Given the description of an element on the screen output the (x, y) to click on. 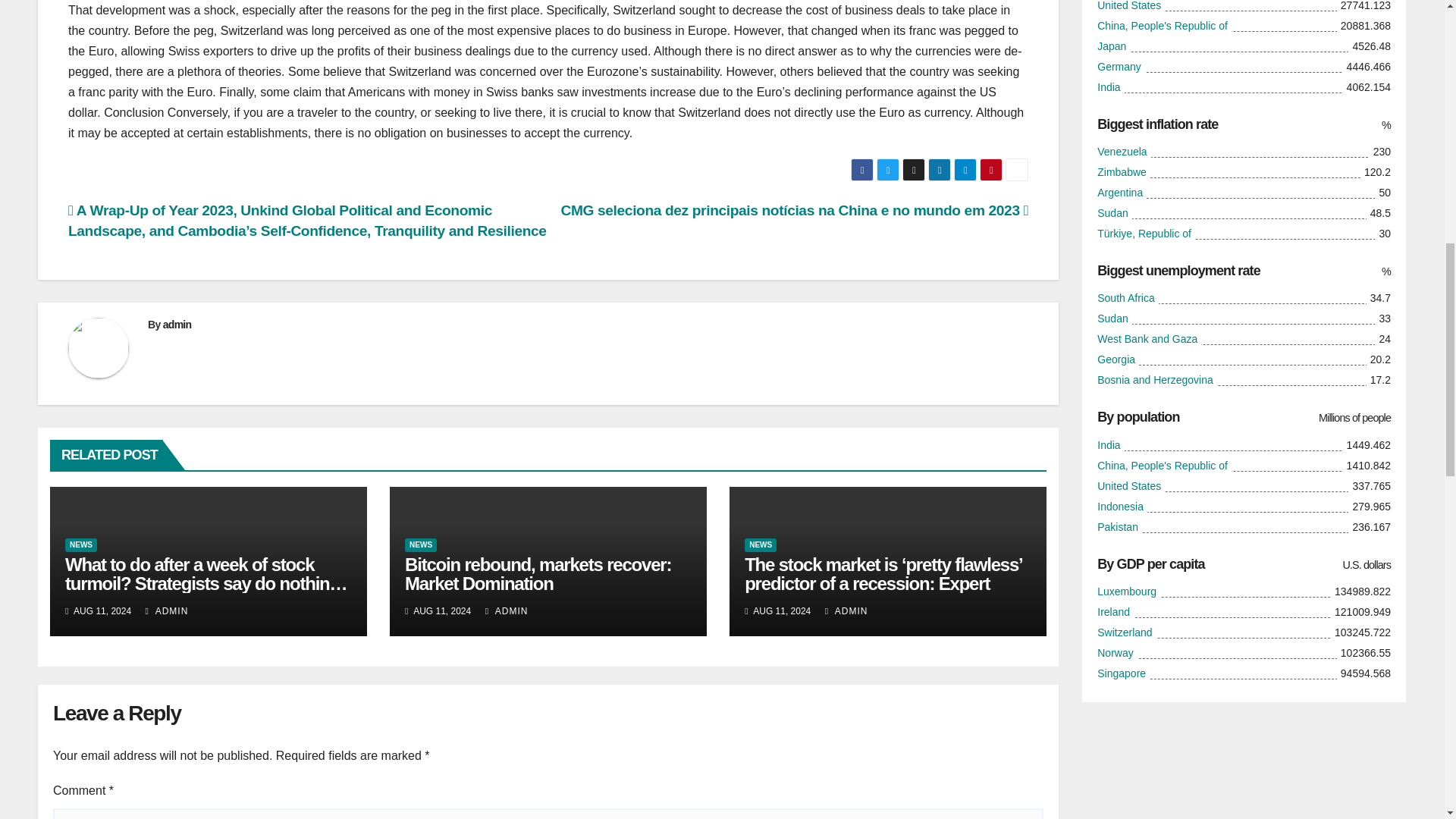
Bitcoin rebound, markets recover: Market Domination (537, 573)
NEWS (81, 545)
NEWS (420, 545)
admin (177, 324)
NEWS (760, 545)
ADMIN (167, 611)
ADMIN (506, 611)
